Given the description of an element on the screen output the (x, y) to click on. 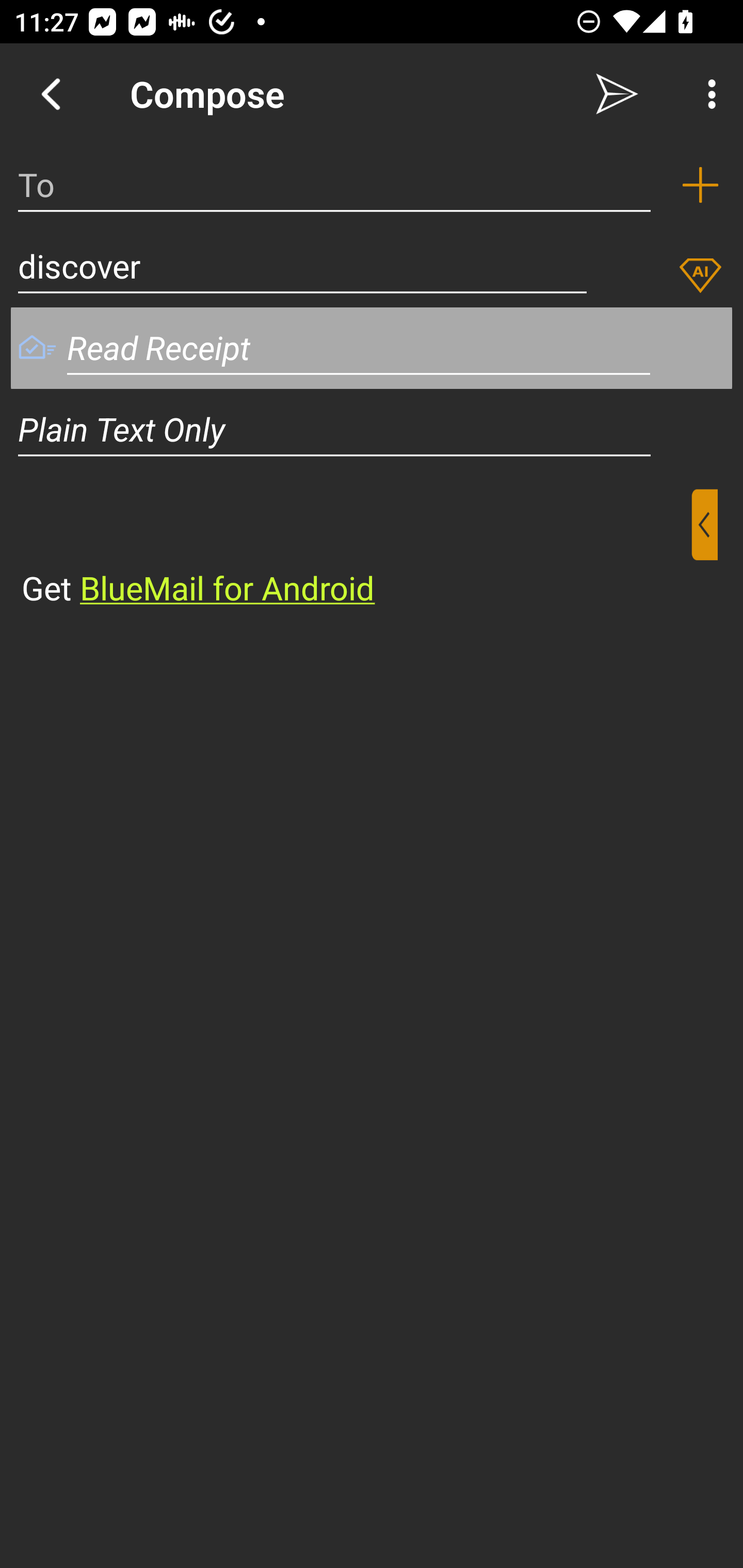
Navigate up (50, 93)
Send (616, 93)
More Options (706, 93)
To (334, 184)
Add recipient (To) (699, 184)
discover (302, 266)
Read Receipt (358, 347)
Read Receipt (37, 348)
Plain Text Only (371, 429)


⁣Get BlueMail for Android ​ (355, 549)
